Given the description of an element on the screen output the (x, y) to click on. 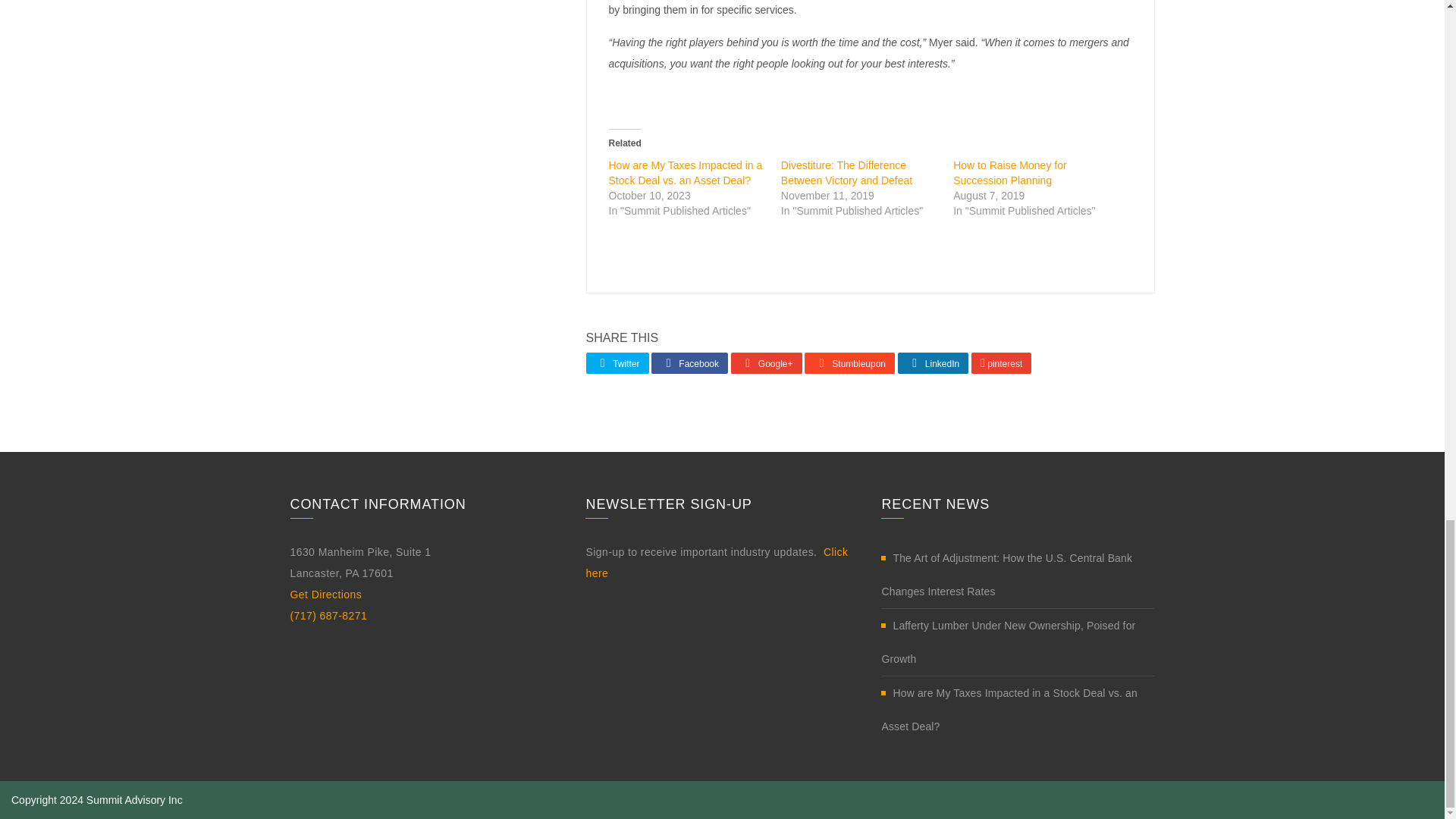
Divestiture: The Difference Between Victory and Defeat (846, 172)
How to Raise Money for Succession Planning (1009, 172)
Get Directions (325, 594)
Twitter (616, 362)
Facebook (689, 362)
LinkedIn (933, 362)
How are My Taxes Impacted in a Stock Deal vs. an Asset Deal? (684, 172)
Click here (716, 562)
Stumbleupon (850, 362)
